Given the description of an element on the screen output the (x, y) to click on. 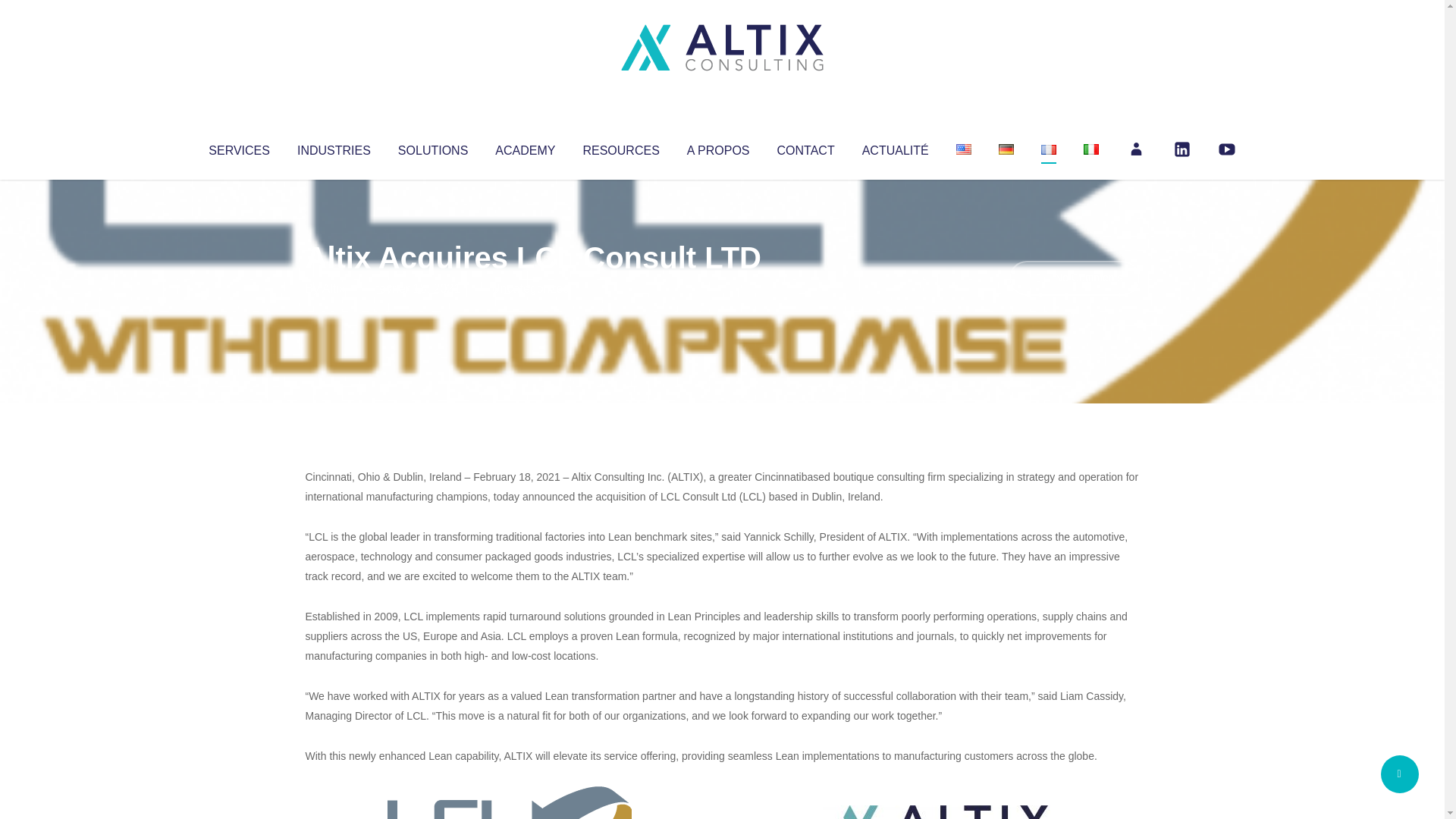
RESOURCES (620, 146)
A PROPOS (718, 146)
Uncategorized (530, 287)
Articles par Altix (333, 287)
SOLUTIONS (432, 146)
No Comments (1073, 278)
SERVICES (238, 146)
Altix (333, 287)
ACADEMY (524, 146)
INDUSTRIES (334, 146)
